Given the description of an element on the screen output the (x, y) to click on. 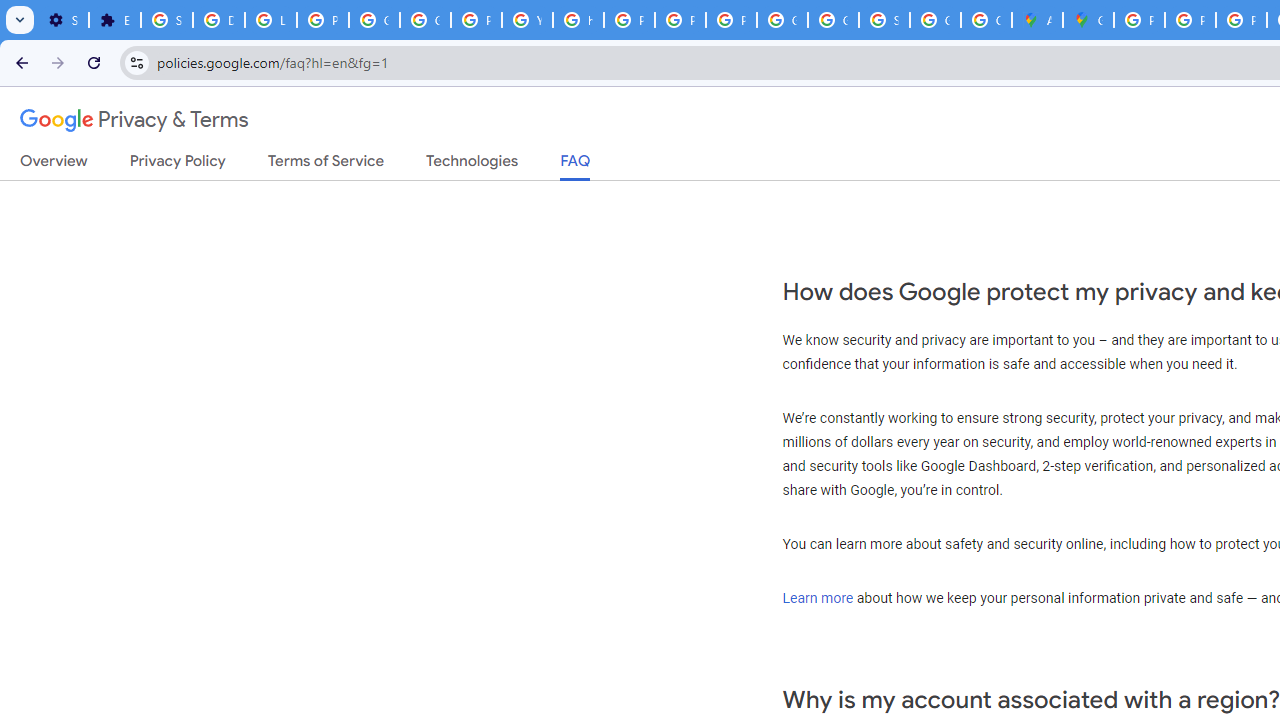
Sign in - Google Accounts (166, 20)
Google Maps (1087, 20)
